Given the description of an element on the screen output the (x, y) to click on. 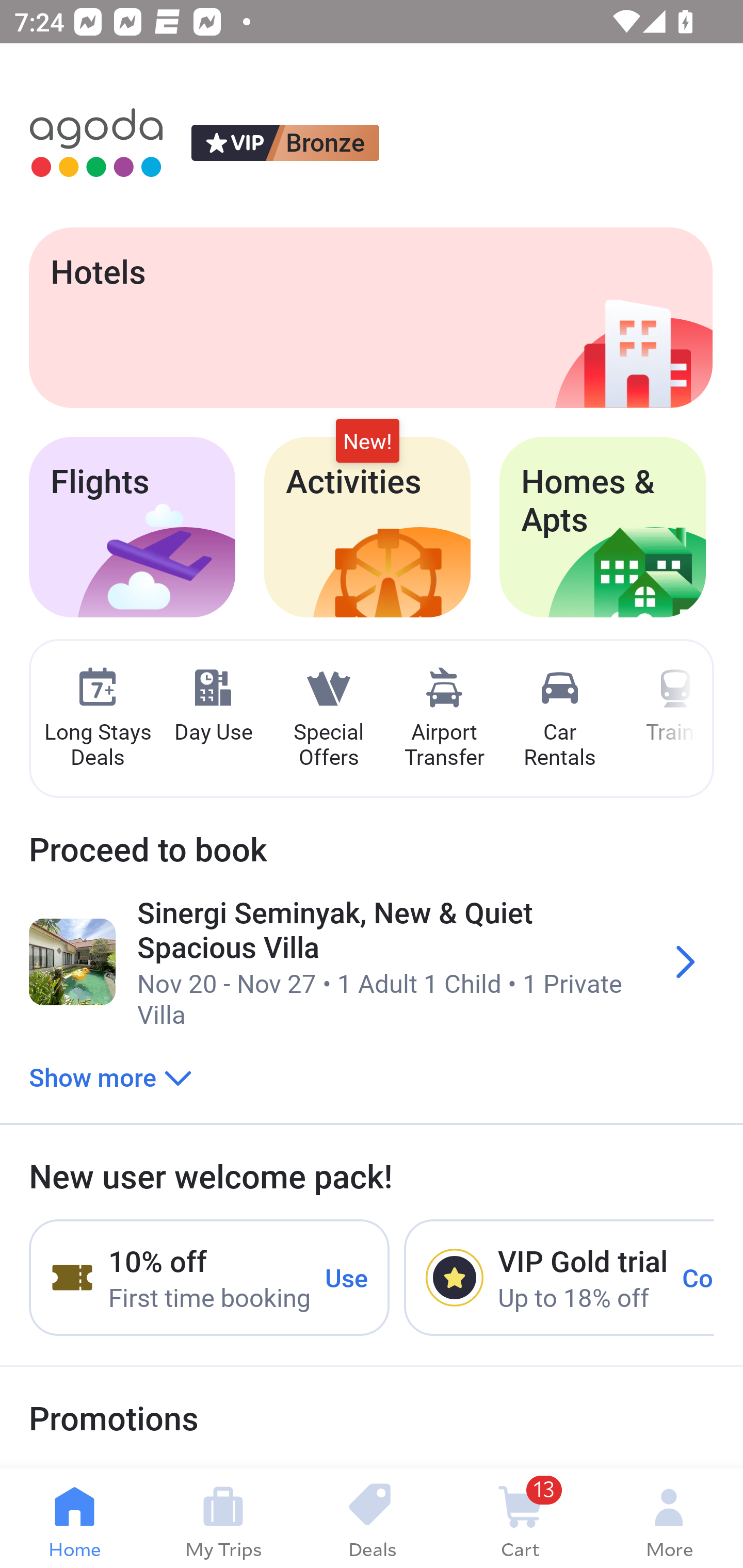
Hotels (370, 317)
New! (367, 441)
Flights (131, 527)
Activities (367, 527)
Homes & Apts (602, 527)
Day Use (213, 706)
Long Stays Deals (97, 718)
Special Offers (328, 718)
Airport Transfer (444, 718)
Car Rentals (559, 718)
Show more (110, 1076)
Use (346, 1277)
Home (74, 1518)
My Trips (222, 1518)
Deals (371, 1518)
13 Cart (519, 1518)
More (668, 1518)
